Given the description of an element on the screen output the (x, y) to click on. 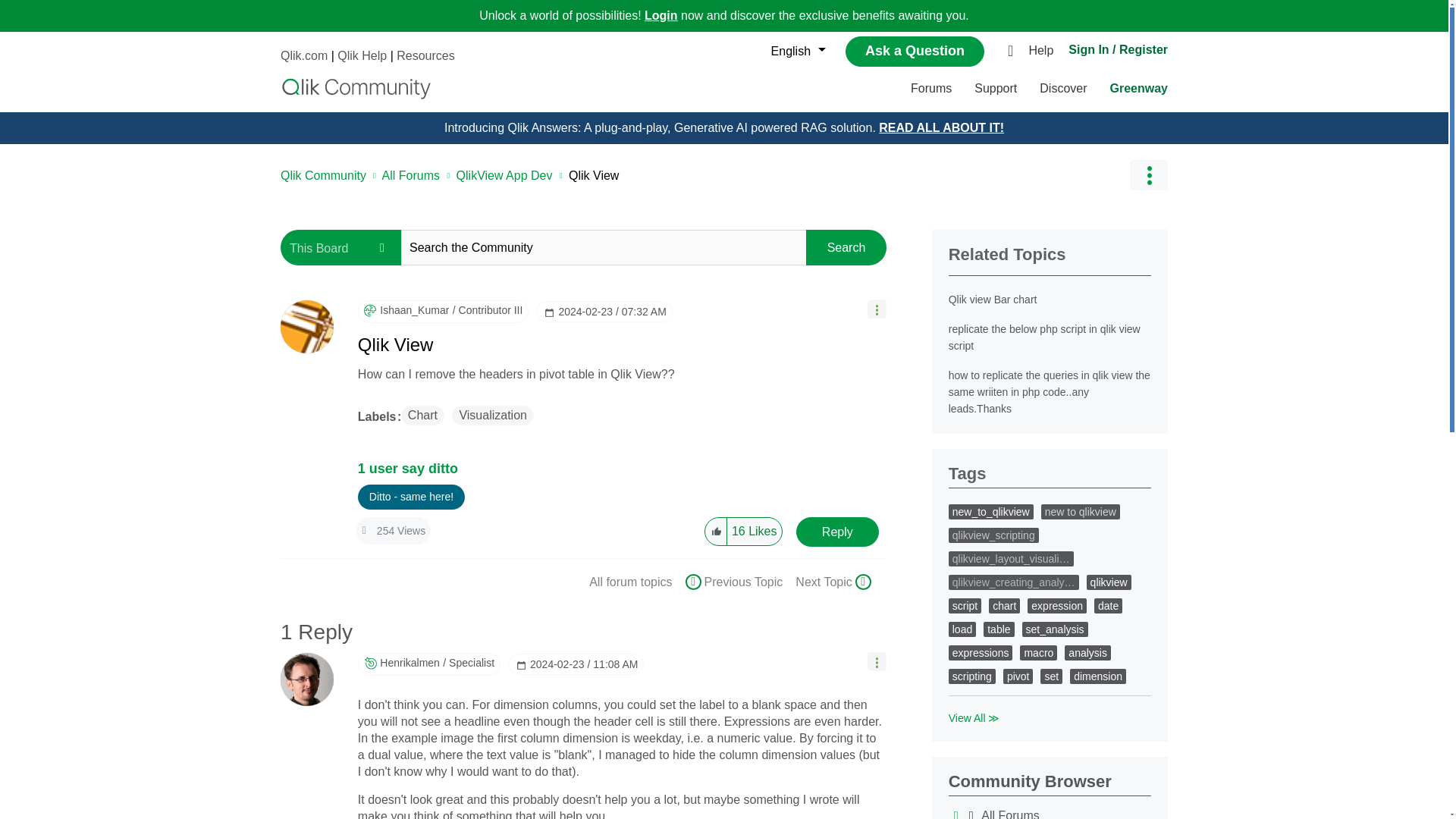
Ask a Question (914, 51)
Search (846, 247)
Login (661, 15)
Resources (425, 55)
Search (846, 247)
Qlik.com (304, 55)
Help (1044, 51)
Qlik (356, 88)
English (793, 51)
Qlik Help (362, 55)
